Given the description of an element on the screen output the (x, y) to click on. 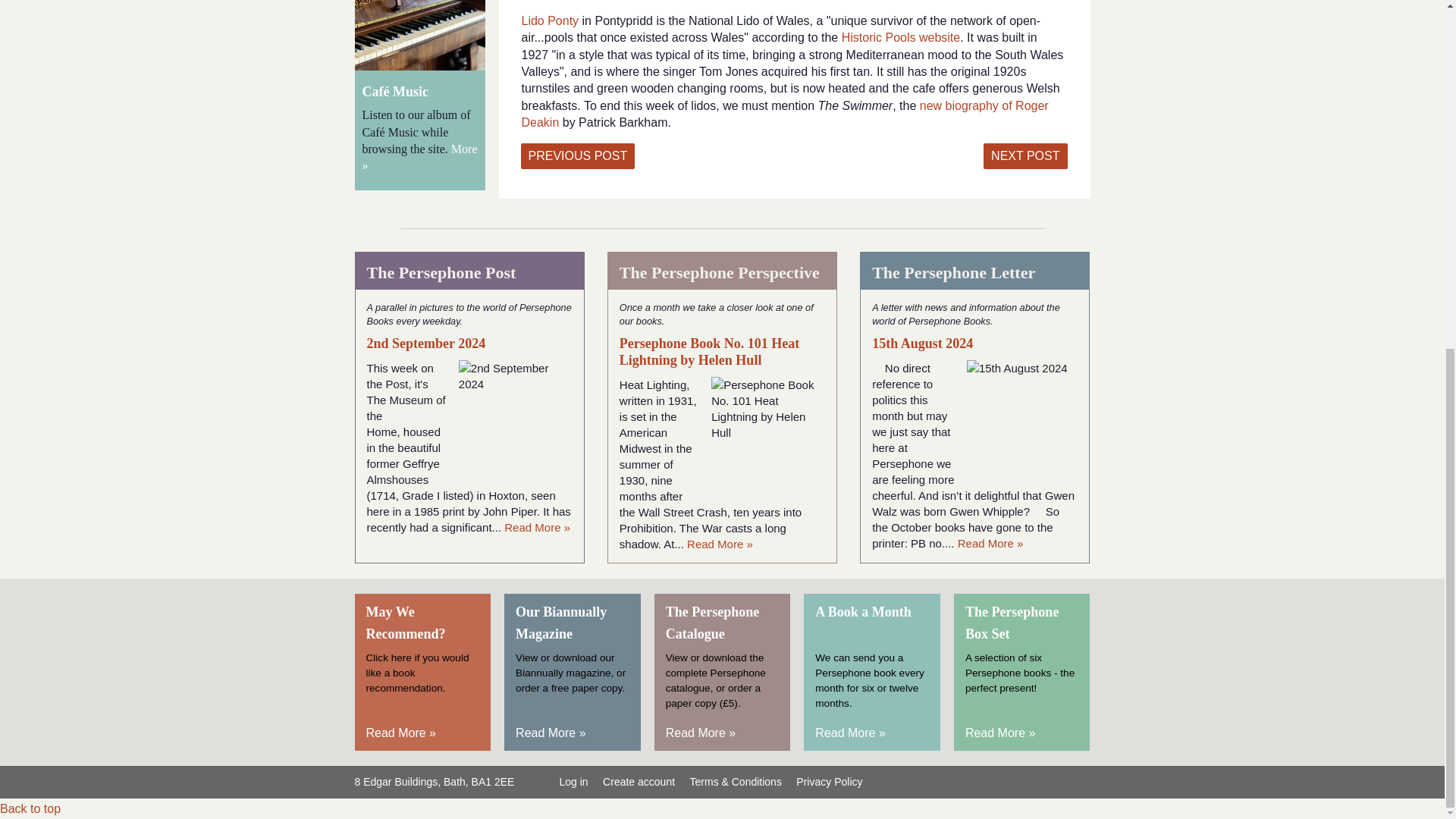
15th June 2023 (576, 156)
Lido Ponty (550, 20)
19th June 2023 (1025, 156)
Back to top (30, 808)
the new biography (784, 113)
Historic Pools  (900, 37)
